Given the description of an element on the screen output the (x, y) to click on. 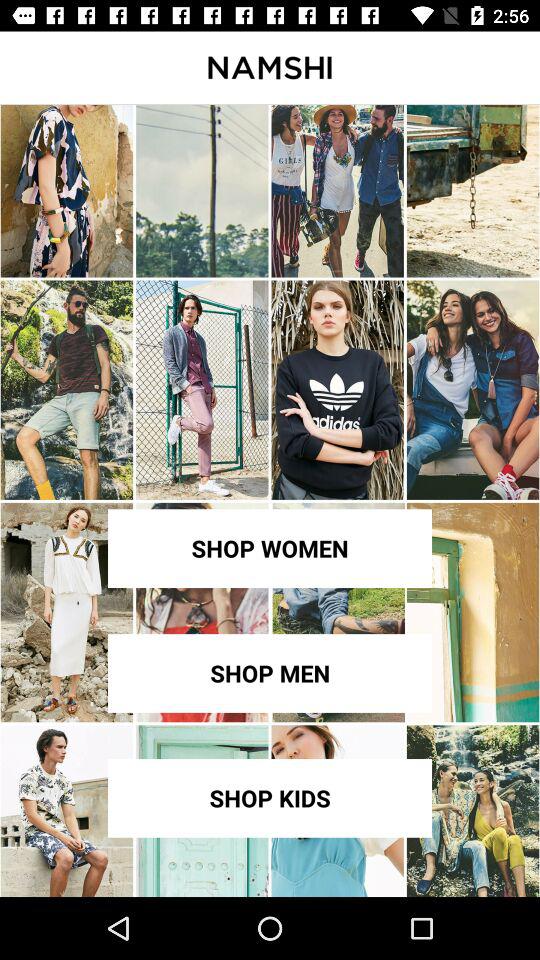
choose the item below the shop men icon (270, 797)
